Given the description of an element on the screen output the (x, y) to click on. 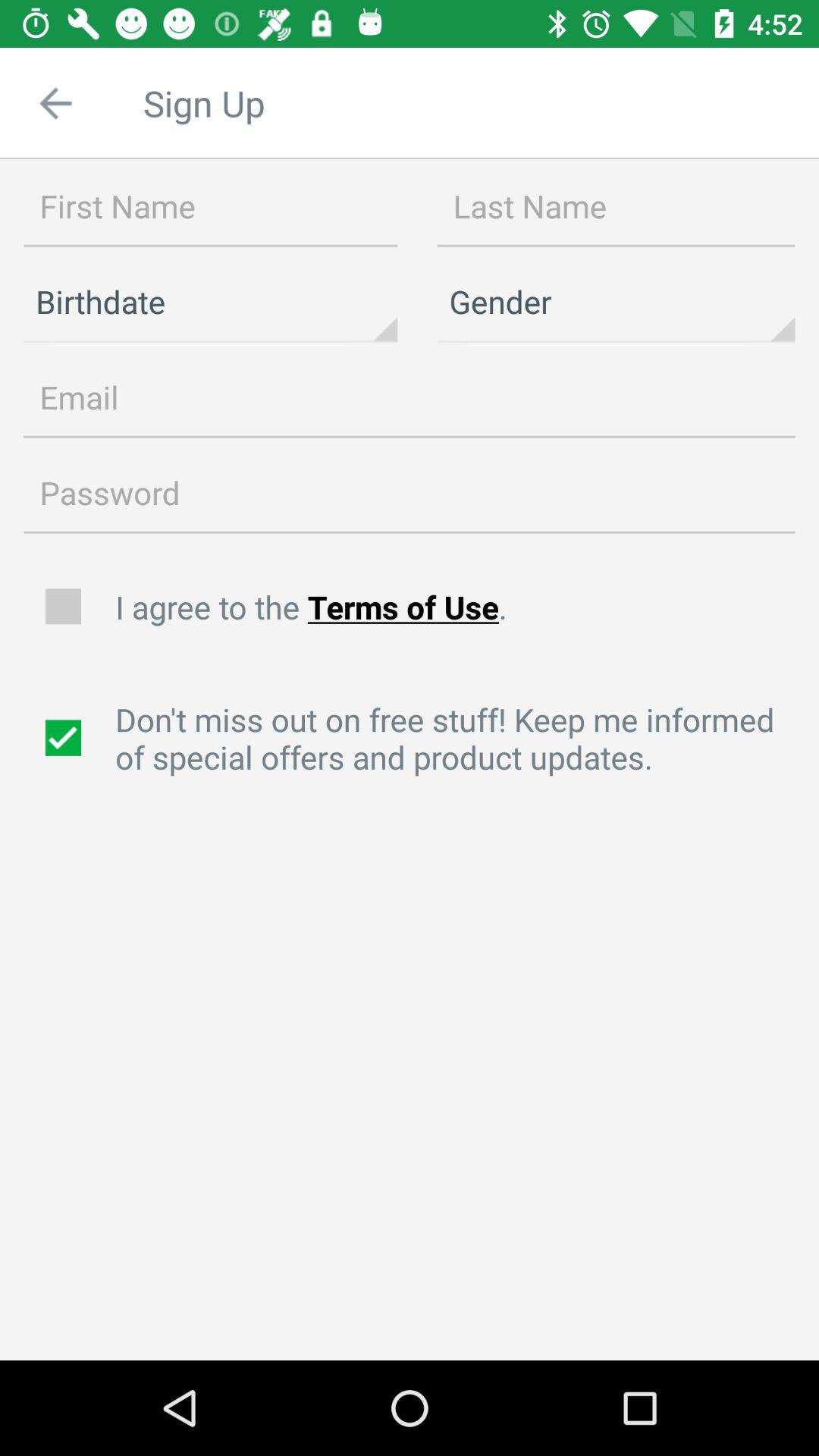
input text into field (210, 206)
